Given the description of an element on the screen output the (x, y) to click on. 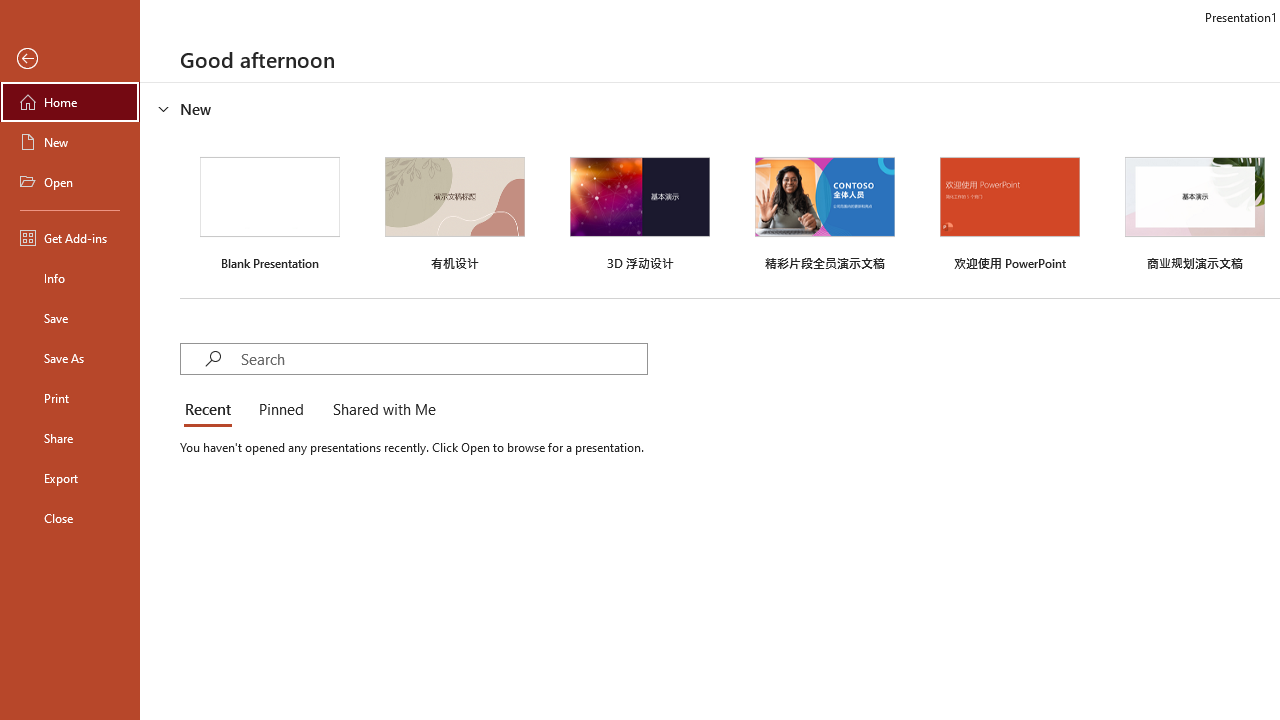
Save As (69, 357)
New (69, 141)
Pinned (280, 410)
Print (69, 398)
Recent (212, 410)
Shared with Me (379, 410)
